Given the description of an element on the screen output the (x, y) to click on. 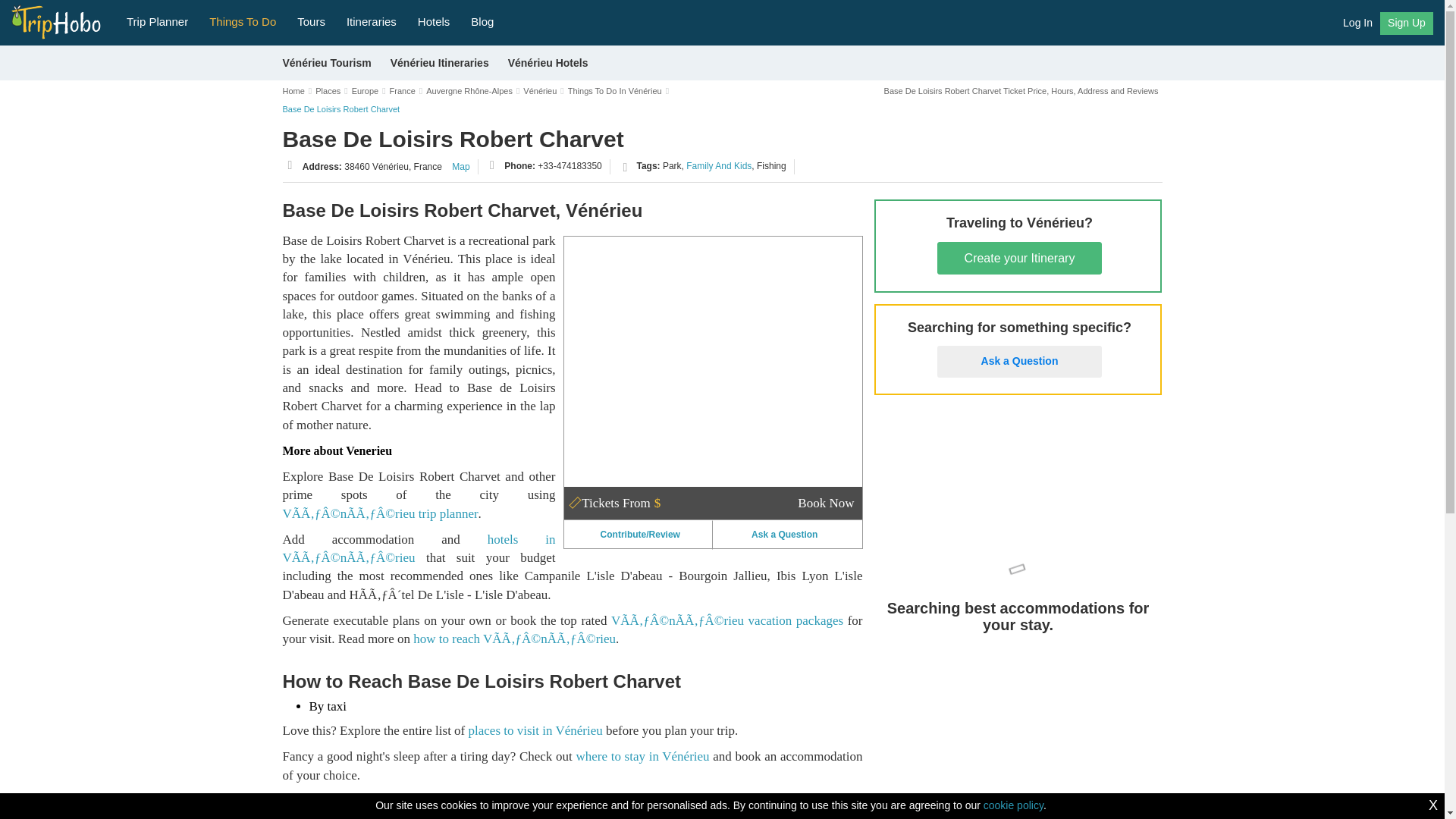
cookie policy (1013, 805)
Create your Itinerary (1019, 257)
Home (293, 90)
Itineraries (371, 20)
Tours (311, 20)
Europe (365, 90)
Log In (1357, 22)
Triphobo (55, 18)
Destinations (242, 20)
Trip Planner (157, 20)
